Given the description of an element on the screen output the (x, y) to click on. 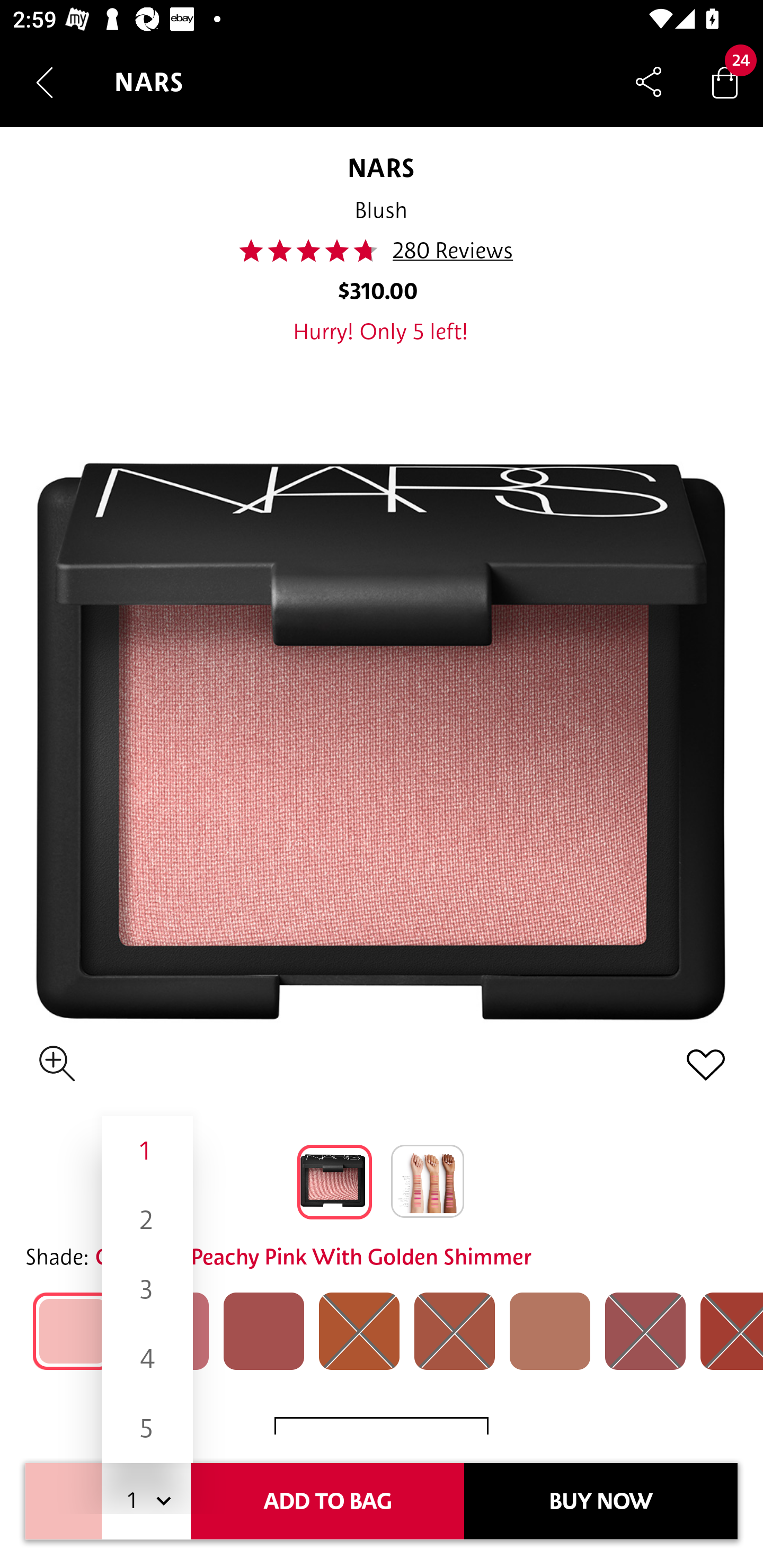
1 (147, 1150)
2 (147, 1219)
3 (147, 1289)
4 (147, 1358)
5 (147, 1427)
